Given the description of an element on the screen output the (x, y) to click on. 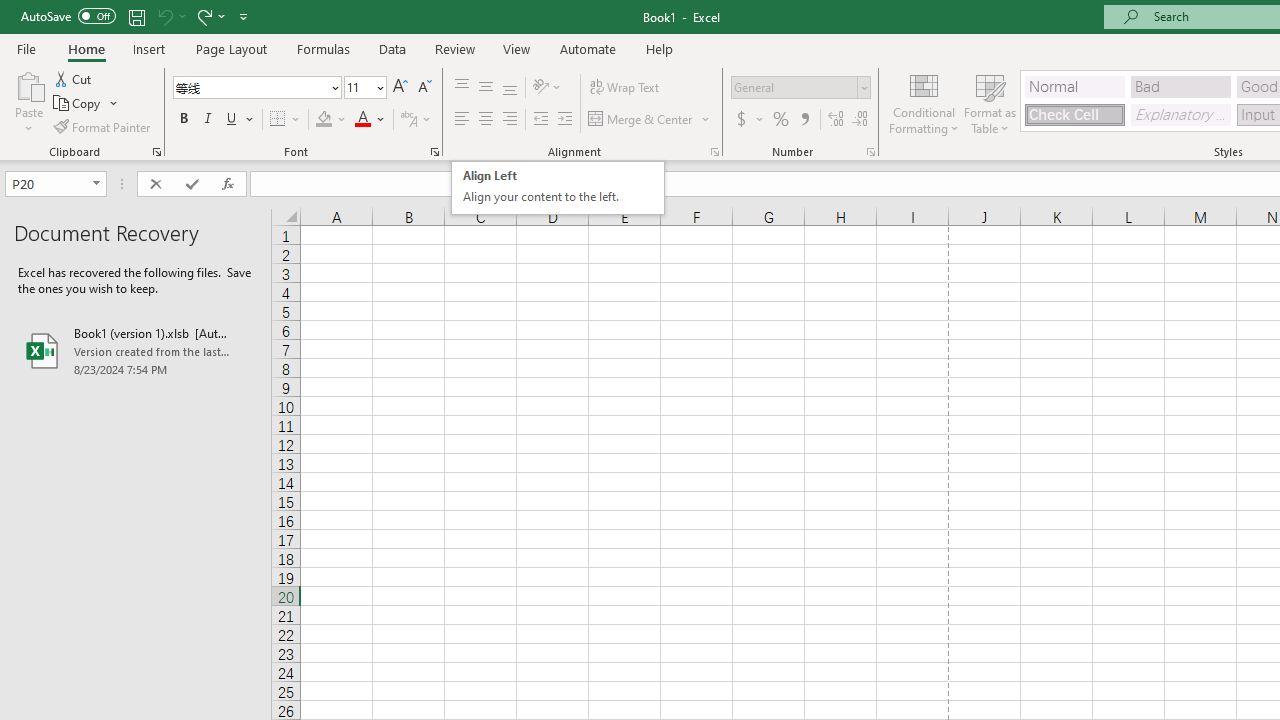
Accounting Number Format (741, 119)
Explanatory Text (1180, 114)
Borders (285, 119)
Underline (232, 119)
Format Cell Font (434, 151)
Increase Indent (565, 119)
Fill Color (331, 119)
Format Cell Alignment (714, 151)
Conditional Formatting (924, 102)
Format Painter (103, 126)
Align Left (461, 119)
Bottom Align (509, 87)
Underline (239, 119)
Accounting Number Format (749, 119)
